Given the description of an element on the screen output the (x, y) to click on. 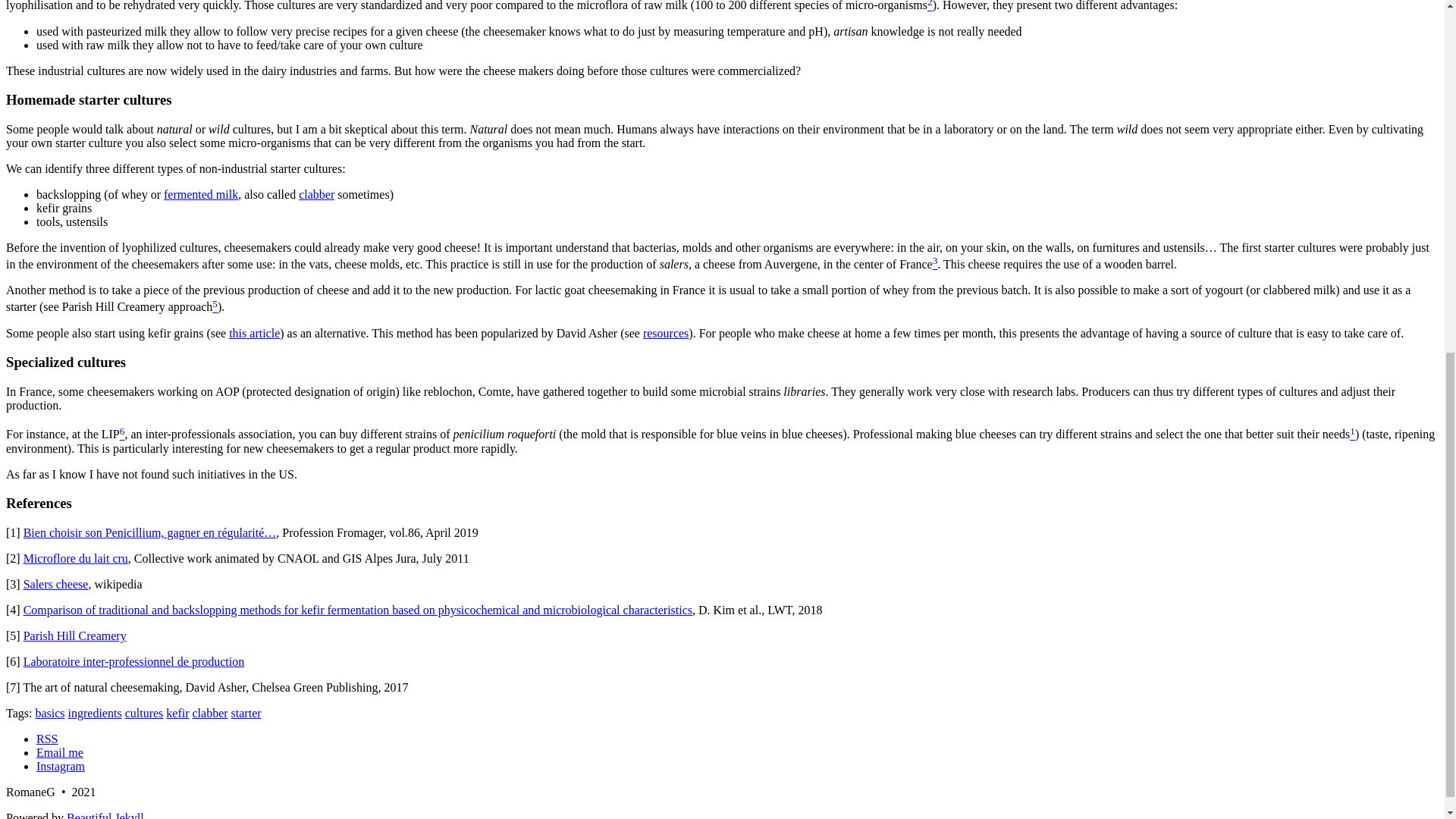
Instagram (60, 766)
fermented milk (200, 194)
clabber (316, 194)
RSS (47, 738)
resources (665, 332)
this article (253, 332)
Microflore du lait cru (75, 558)
Email me (59, 752)
Salers cheese (55, 584)
